Given the description of an element on the screen output the (x, y) to click on. 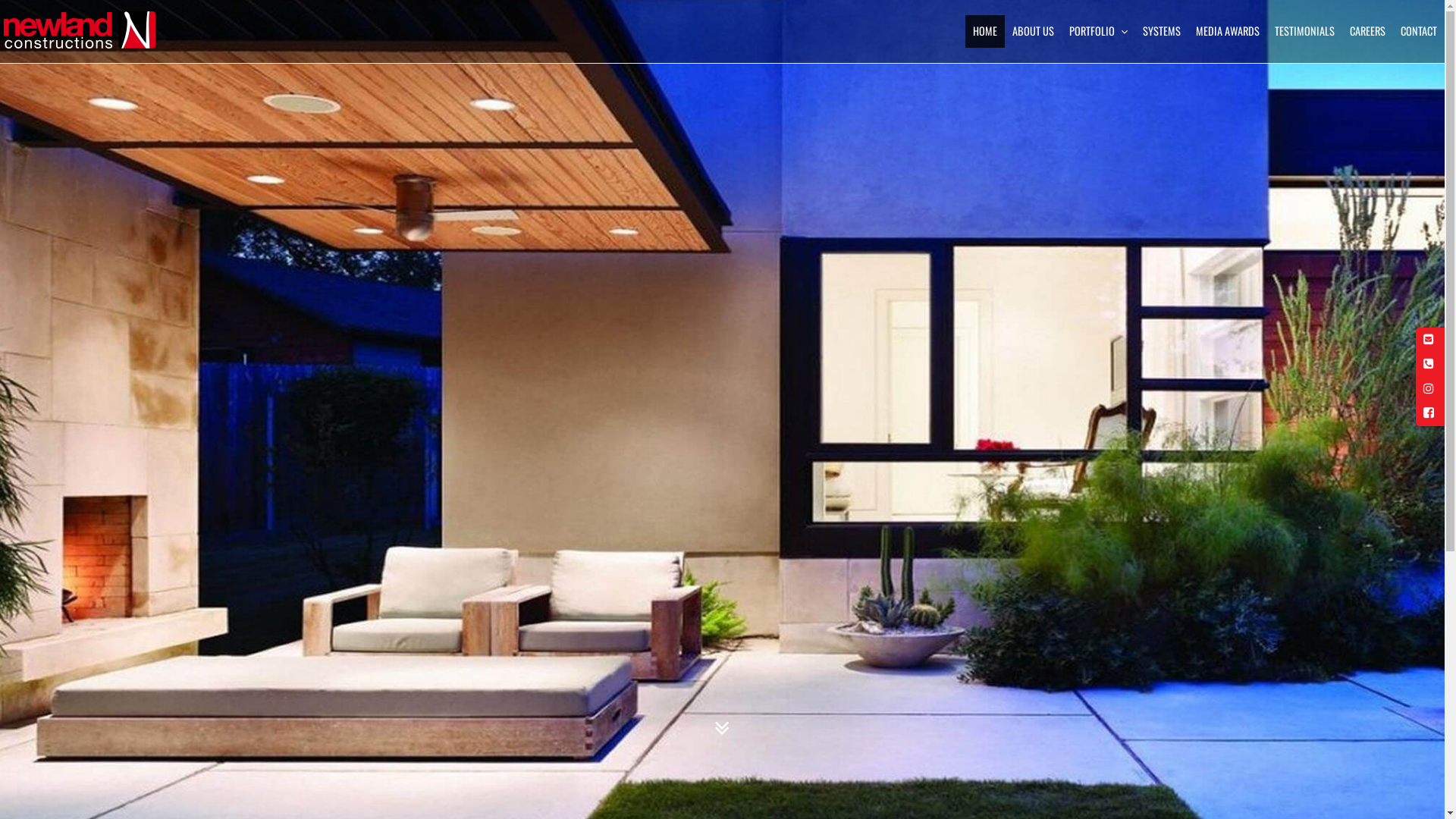
MEDIA AWARDS Element type: text (1227, 31)
HOME Element type: text (984, 31)
TESTIMONIALS Element type: text (1304, 31)
CAREERS Element type: text (1367, 31)
CONTACT Element type: text (1418, 31)
ABOUT US Element type: text (1032, 31)
SYSTEMS Element type: text (1161, 31)
PORTFOLIO Element type: text (1098, 31)
